Given the description of an element on the screen output the (x, y) to click on. 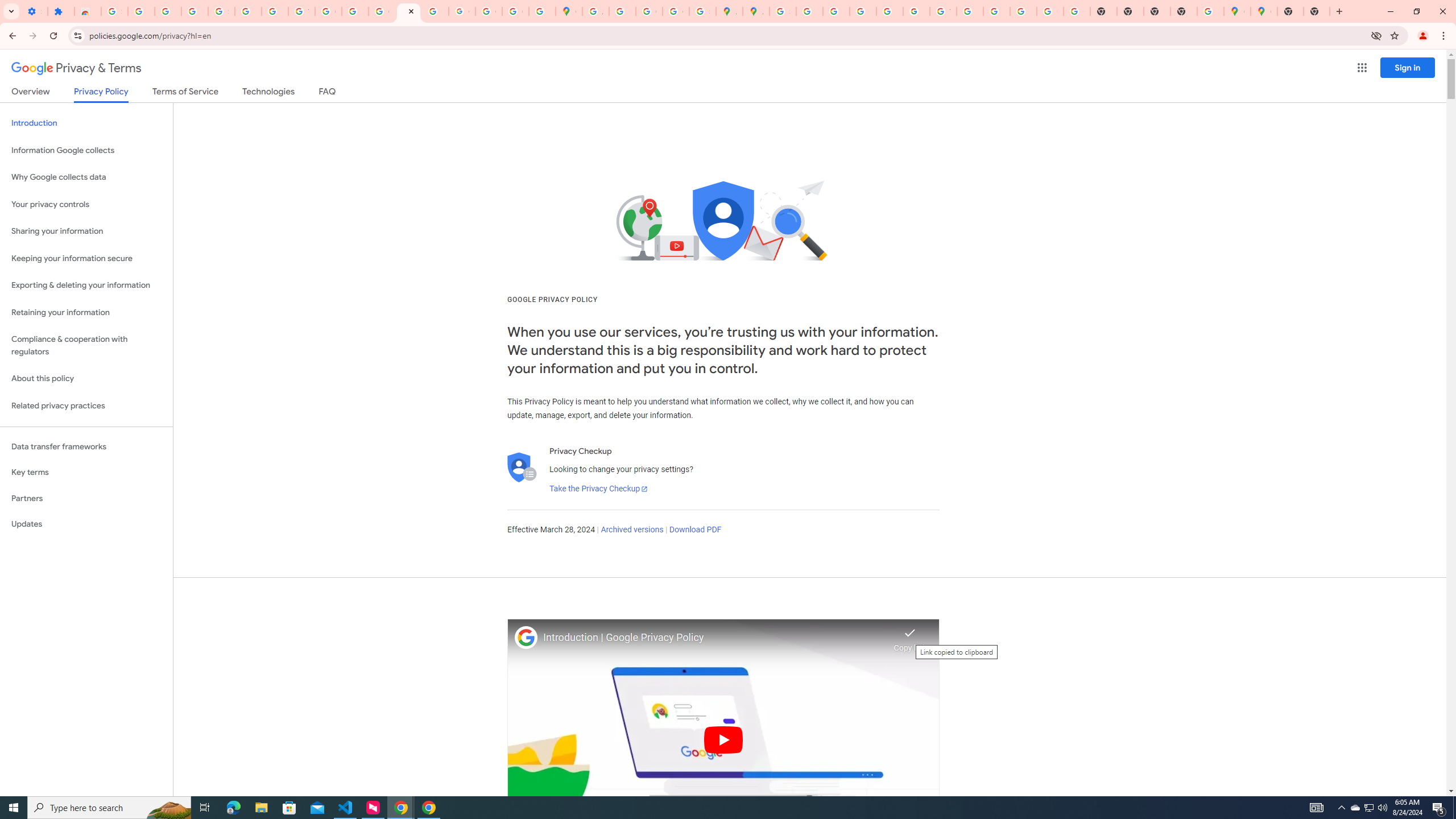
Google Maps (1263, 11)
Sign in - Google Accounts (782, 11)
Use Google Maps in Space - Google Maps Help (1210, 11)
Retaining your information (86, 312)
Exporting & deleting your information (86, 284)
